Given the description of an element on the screen output the (x, y) to click on. 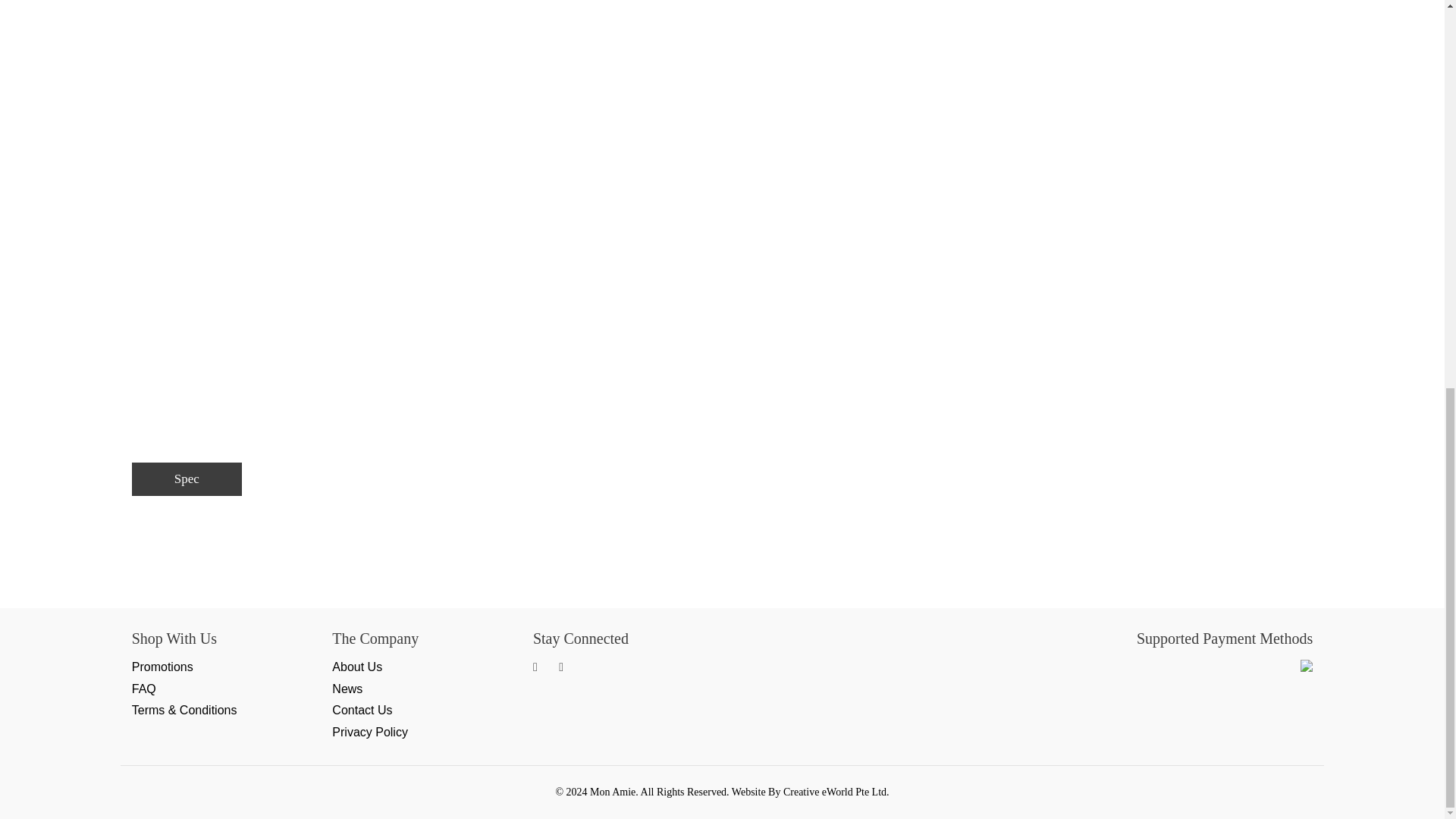
Promotions (162, 666)
FAQ (143, 688)
